Given the description of an element on the screen output the (x, y) to click on. 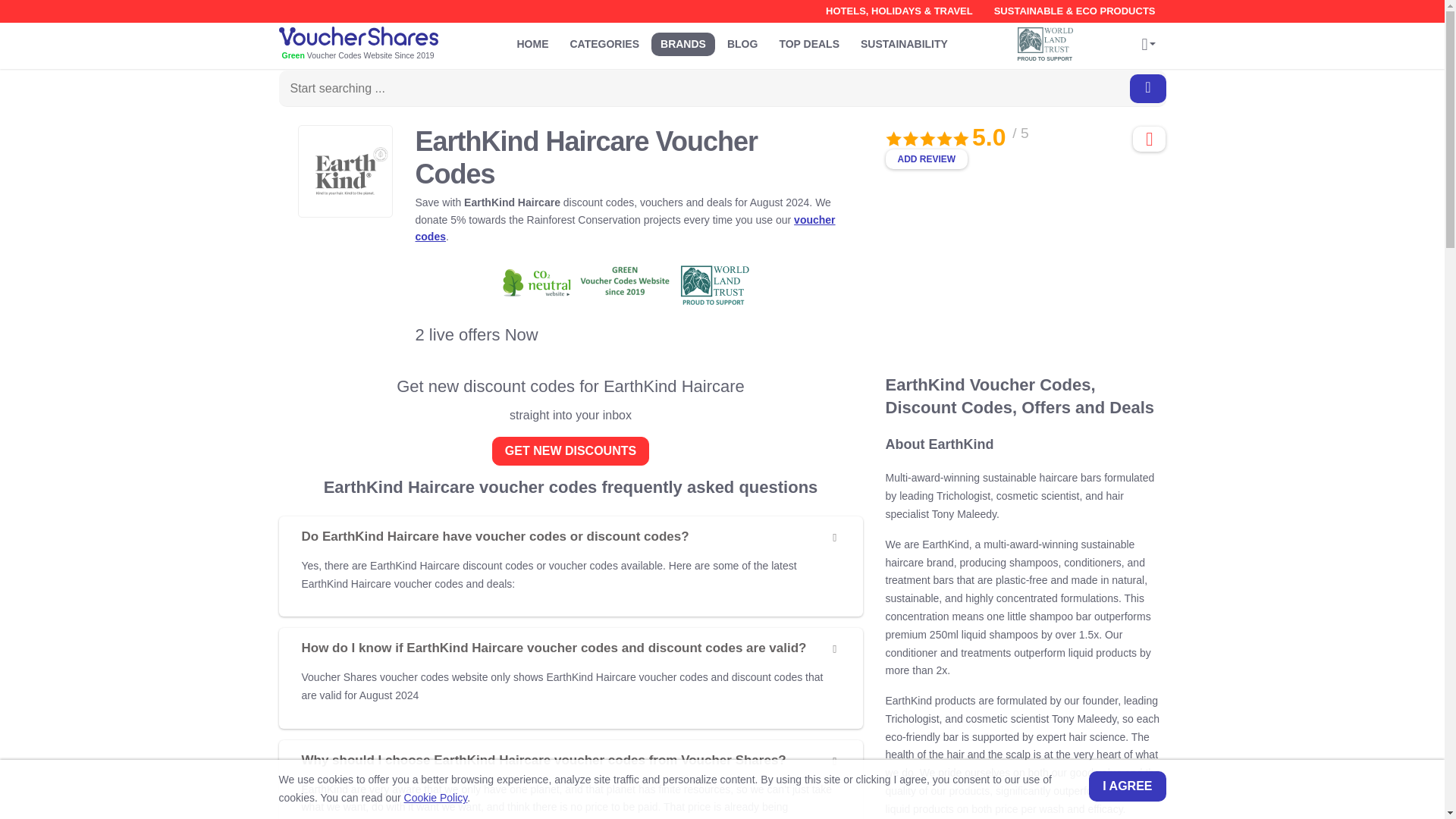
PROUD TO SUPPORT (1048, 44)
CATEGORIES (604, 44)
voucher codes (624, 227)
BRANDS (682, 44)
Personal Area (1148, 45)
vouchershares.co.uk (381, 44)
TOP DEALS (809, 44)
EarthKind Haircare (344, 170)
Sustainability (903, 44)
HOME (532, 44)
